Given the description of an element on the screen output the (x, y) to click on. 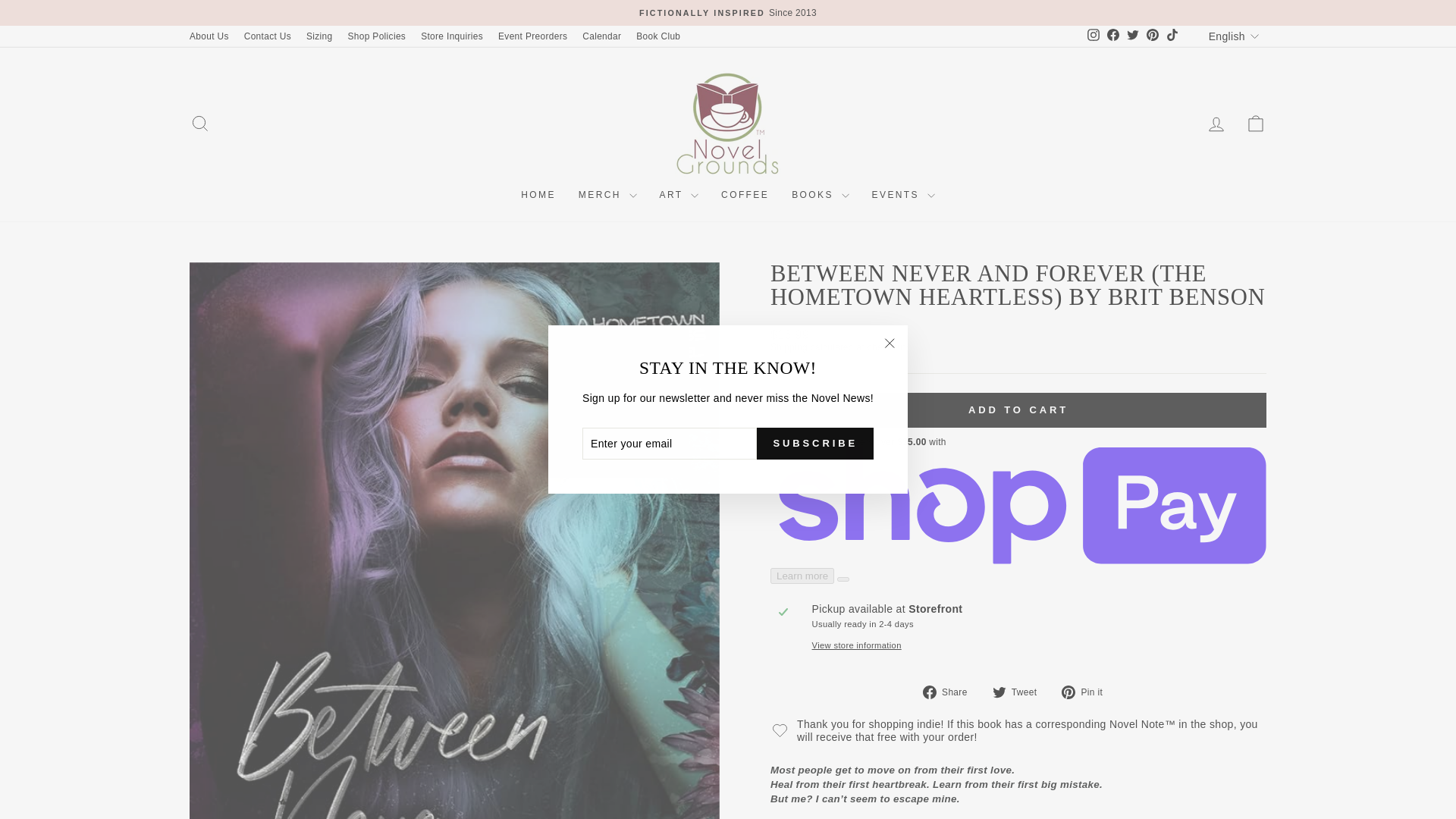
icon-X (889, 342)
ACCOUNT (1216, 124)
Novel Grounds on TikTok (1171, 35)
ICON-SEARCH (200, 123)
Novel Grounds on Pinterest (1151, 35)
Pin on Pinterest (1087, 692)
ICON-BAG-MINIMAL (1255, 123)
twitter (1132, 34)
Novel Grounds on Twitter (1132, 35)
Novel Grounds on Instagram (1093, 35)
twitter (999, 692)
Share on Facebook (950, 692)
Novel Grounds on Facebook (1112, 35)
Tweet on Twitter (1020, 692)
instagram (1093, 34)
